Given the description of an element on the screen output the (x, y) to click on. 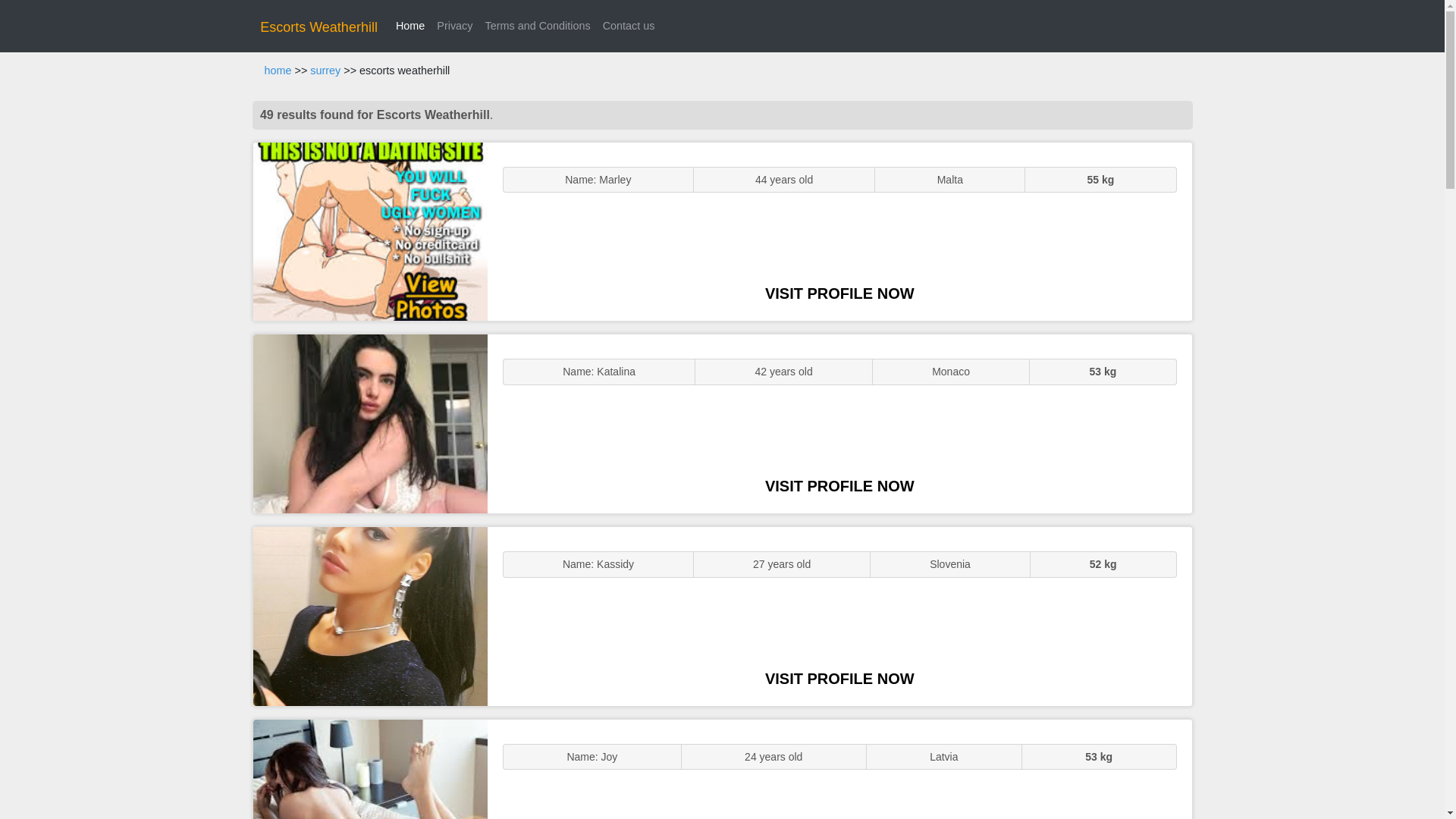
Privacy (454, 25)
GFE (370, 423)
VISIT PROFILE NOW (839, 293)
Sluts (370, 769)
 ENGLISH STUNNER (370, 231)
VISIT PROFILE NOW (839, 678)
Terms and Conditions (537, 25)
Escorts Weatherhill (318, 27)
Sexy (370, 616)
surrey (325, 70)
